Given the description of an element on the screen output the (x, y) to click on. 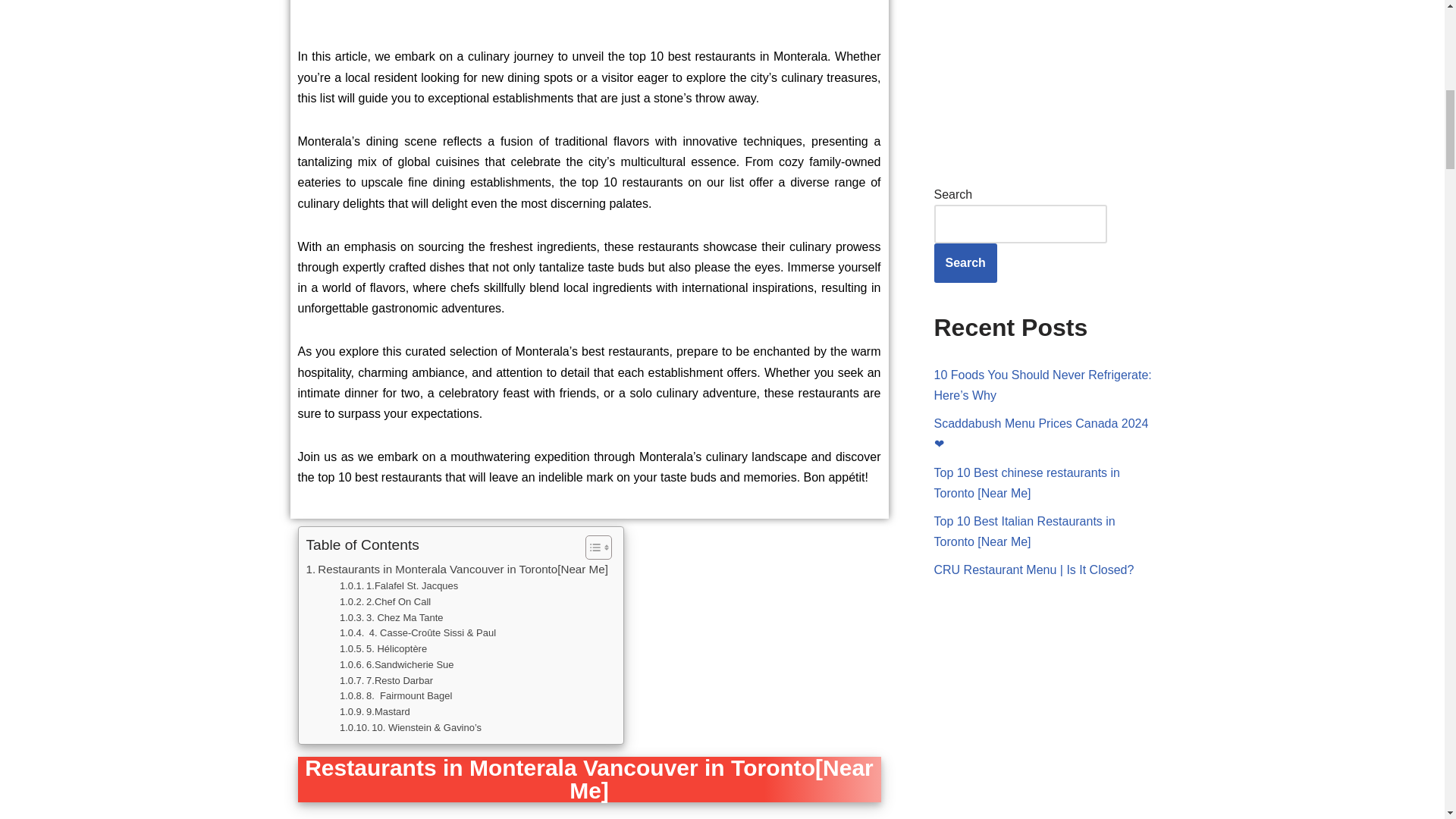
6.Sandwicherie Sue (396, 665)
2.Chef On Call (384, 602)
1.Falafel St. Jacques (398, 586)
3. Chez Ma Tante (391, 617)
7.Resto Darbar (385, 681)
9.Mastard (374, 712)
